Given the description of an element on the screen output the (x, y) to click on. 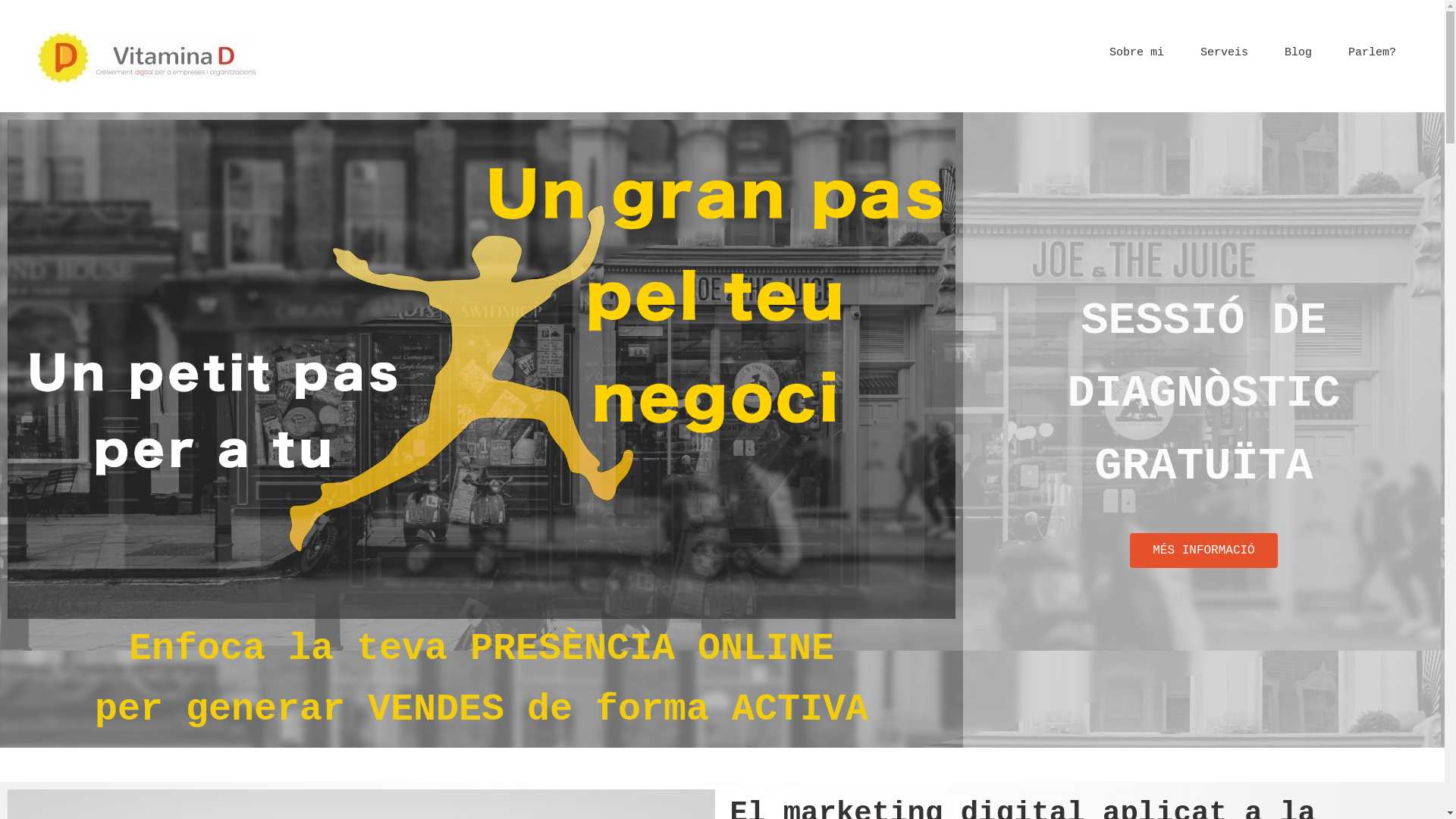
Sobre mi Element type: text (1136, 52)
Vitamina D Marketing Digital Element type: hover (143, 58)
Vitamina D Marketing Digital Element type: hover (143, 58)
Blog Element type: text (1298, 52)
Parlem? Element type: text (1372, 52)
Serveis Element type: text (1224, 52)
